Given the description of an element on the screen output the (x, y) to click on. 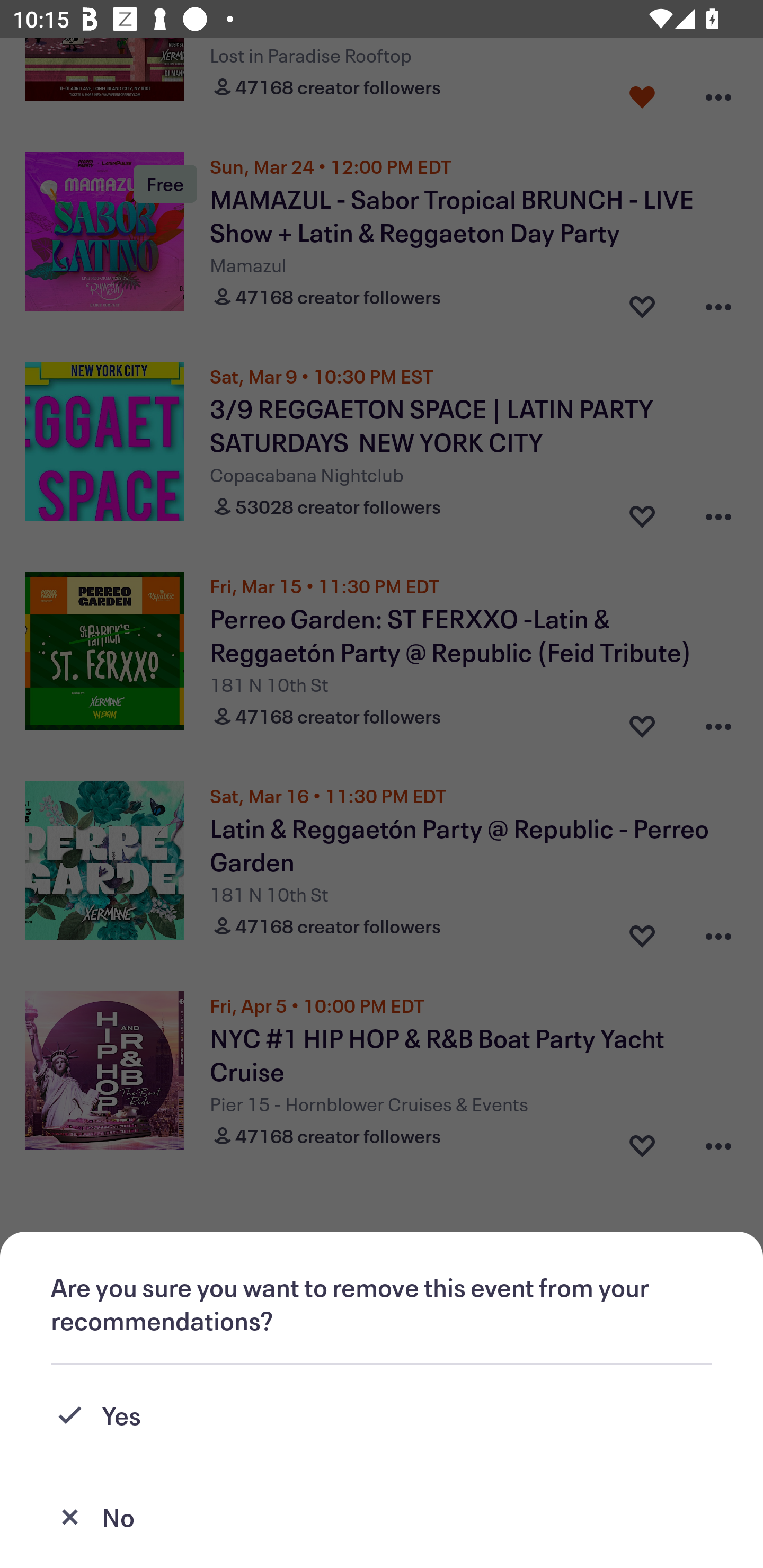
Yes (381, 1415)
No (381, 1517)
